Given the description of an element on the screen output the (x, y) to click on. 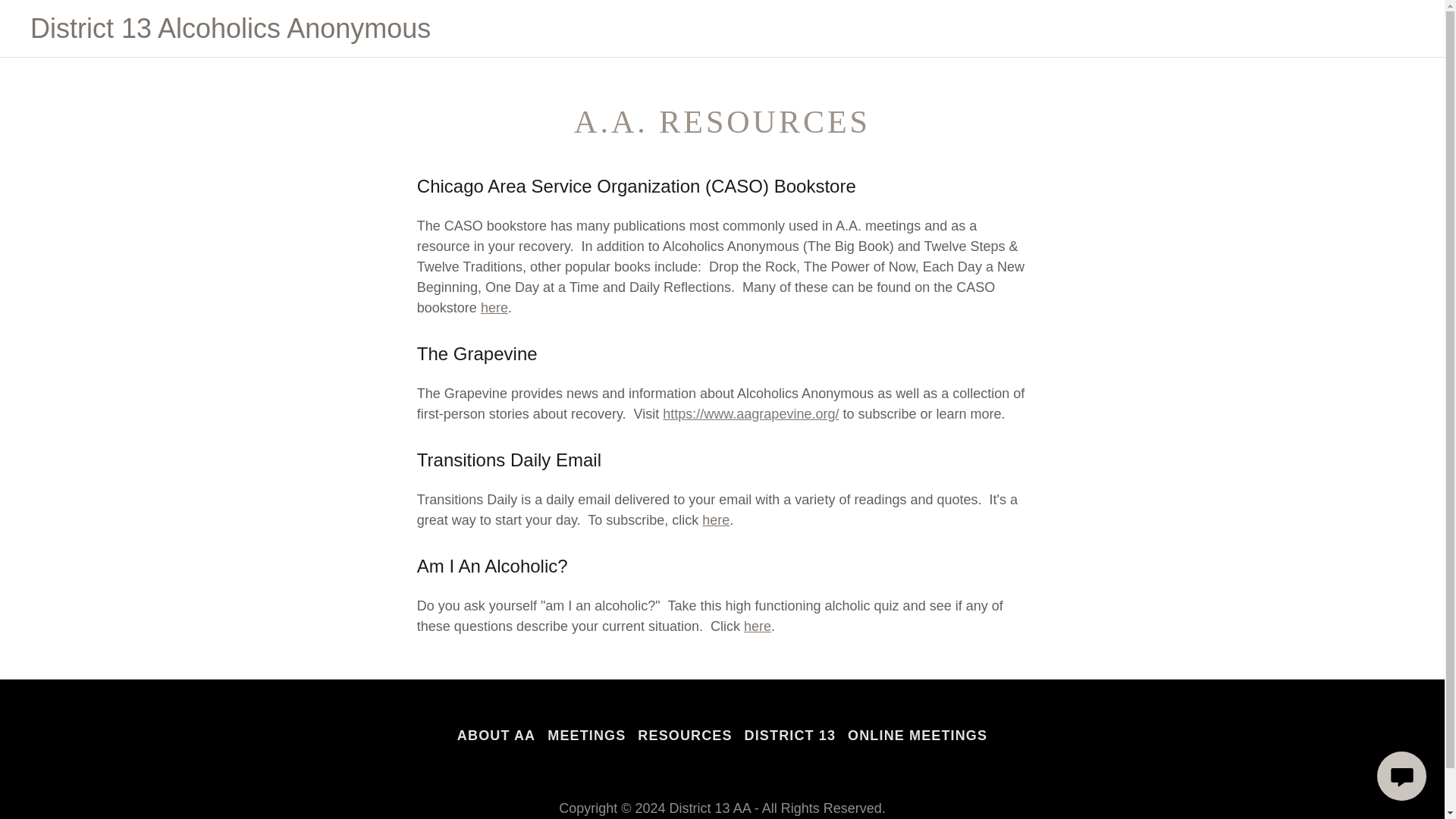
here (757, 626)
DISTRICT 13 (790, 735)
MEETINGS (586, 735)
District 13 Alcoholics Anonymous (230, 32)
RESOURCES (684, 735)
District 13 Alcoholics Anonymous (230, 32)
here (494, 307)
here (715, 519)
ONLINE MEETINGS (916, 735)
ABOUT AA (496, 735)
